Given the description of an element on the screen output the (x, y) to click on. 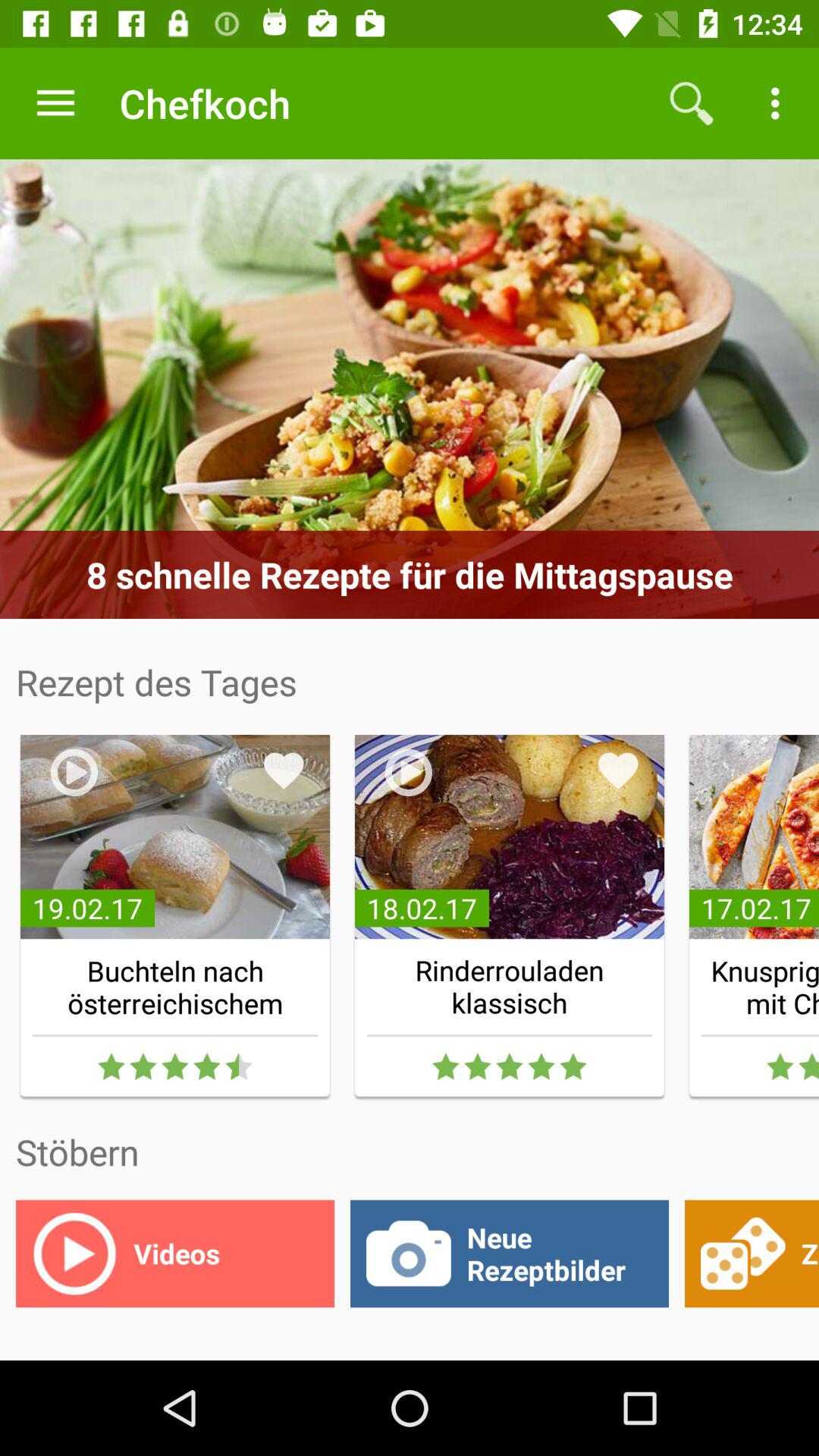
launch app next to chefkoch icon (55, 103)
